Given the description of an element on the screen output the (x, y) to click on. 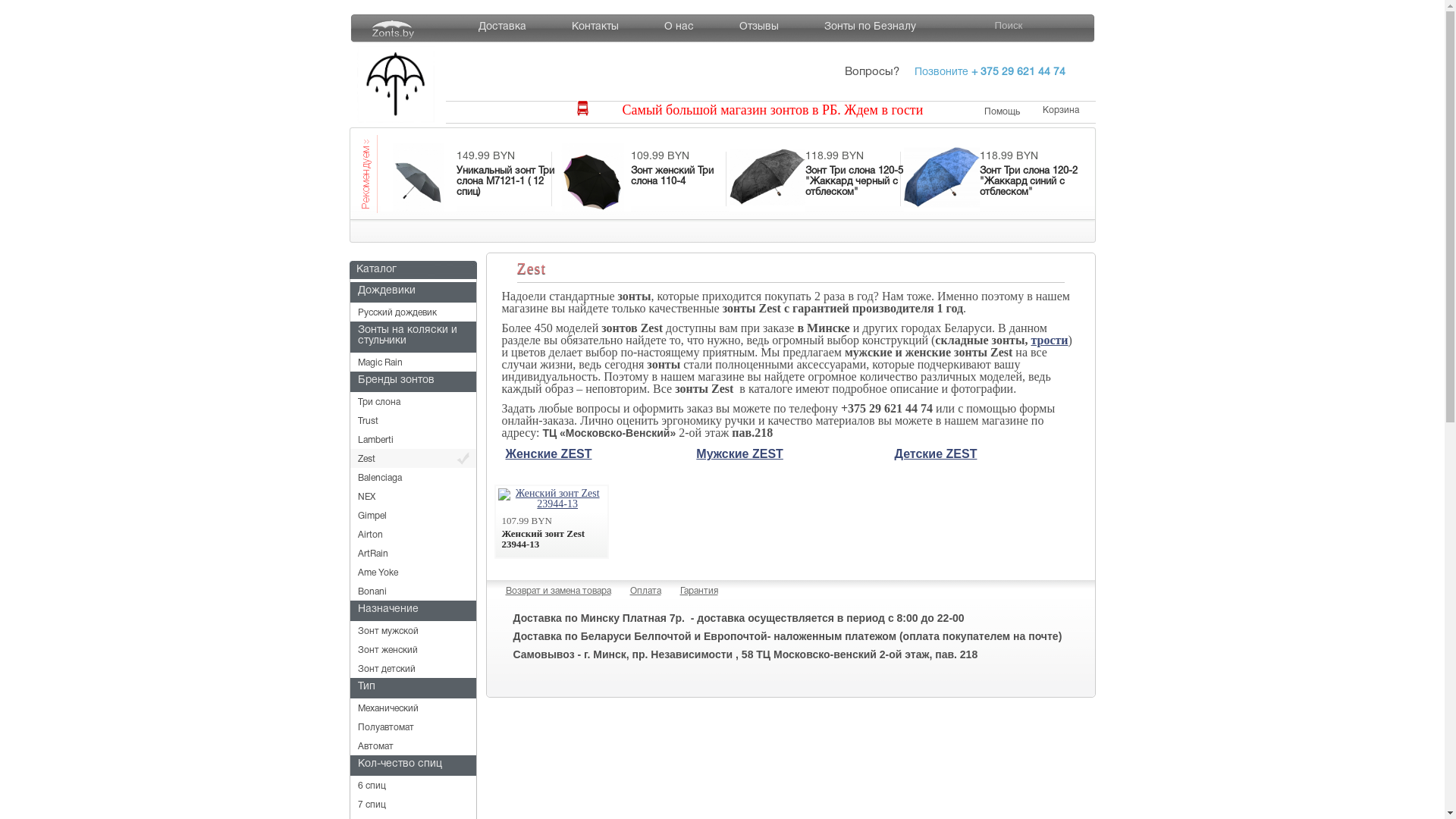
ArtRain Element type: text (413, 552)
Lamberti Element type: text (413, 438)
Zest Element type: text (413, 457)
Ame Yoke Element type: text (413, 571)
Magic Rain Element type: text (413, 361)
Bonani Element type: text (413, 590)
Trust Element type: text (413, 420)
Gimpel Element type: text (413, 514)
Balenciaga Element type: text (413, 476)
Airton Element type: text (413, 533)
NEX Element type: text (413, 495)
